Given the description of an element on the screen output the (x, y) to click on. 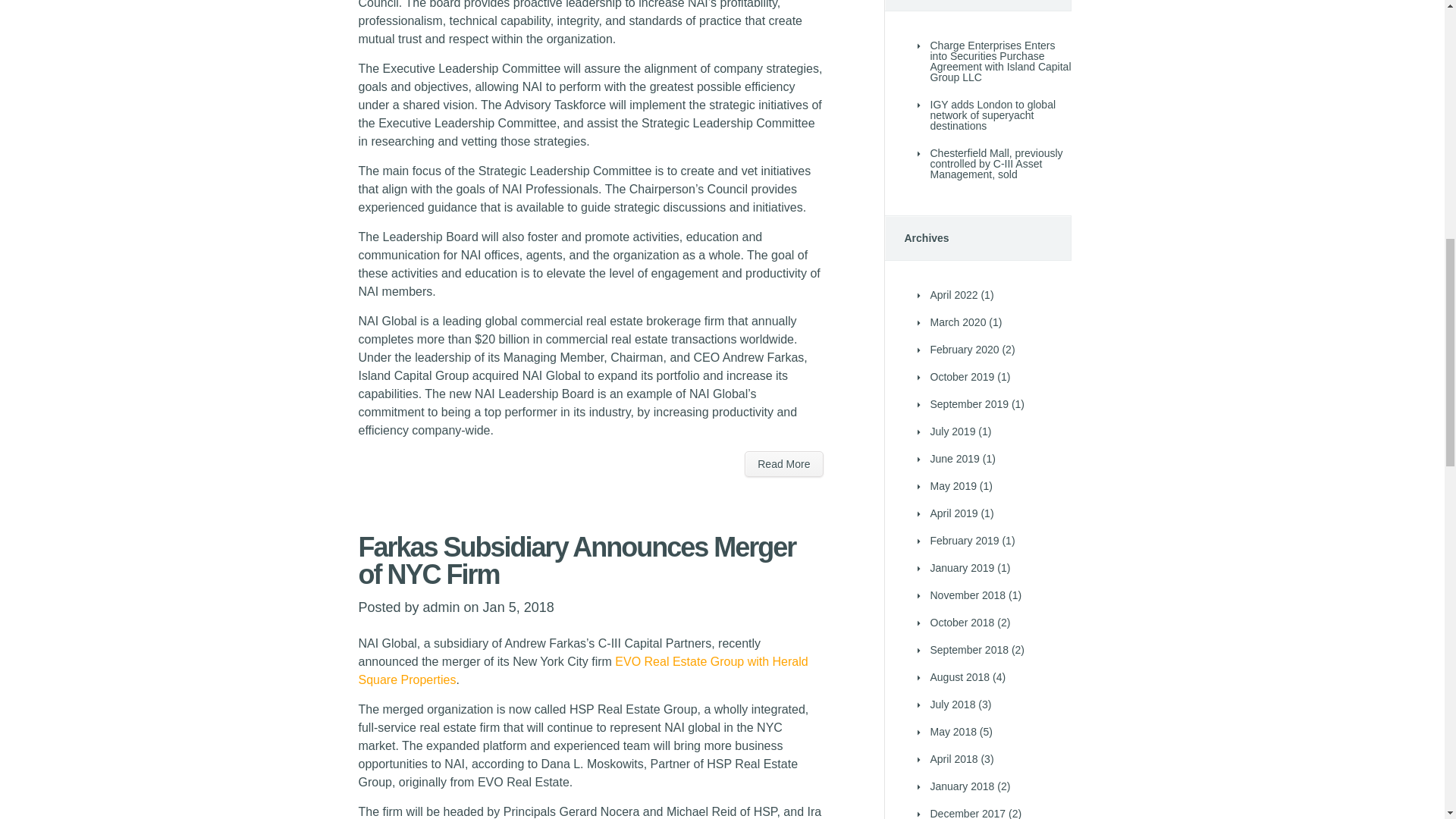
admin (441, 607)
April 2022 (953, 295)
Read More (783, 463)
Posts by admin (441, 607)
March 2020 (957, 322)
EVO Real Estate Group with Herald Square Properties (583, 670)
IGY adds London to global network of superyacht destinations (992, 114)
Farkas Subsidiary Announces Merger of NYC Firm (576, 560)
